Given the description of an element on the screen output the (x, y) to click on. 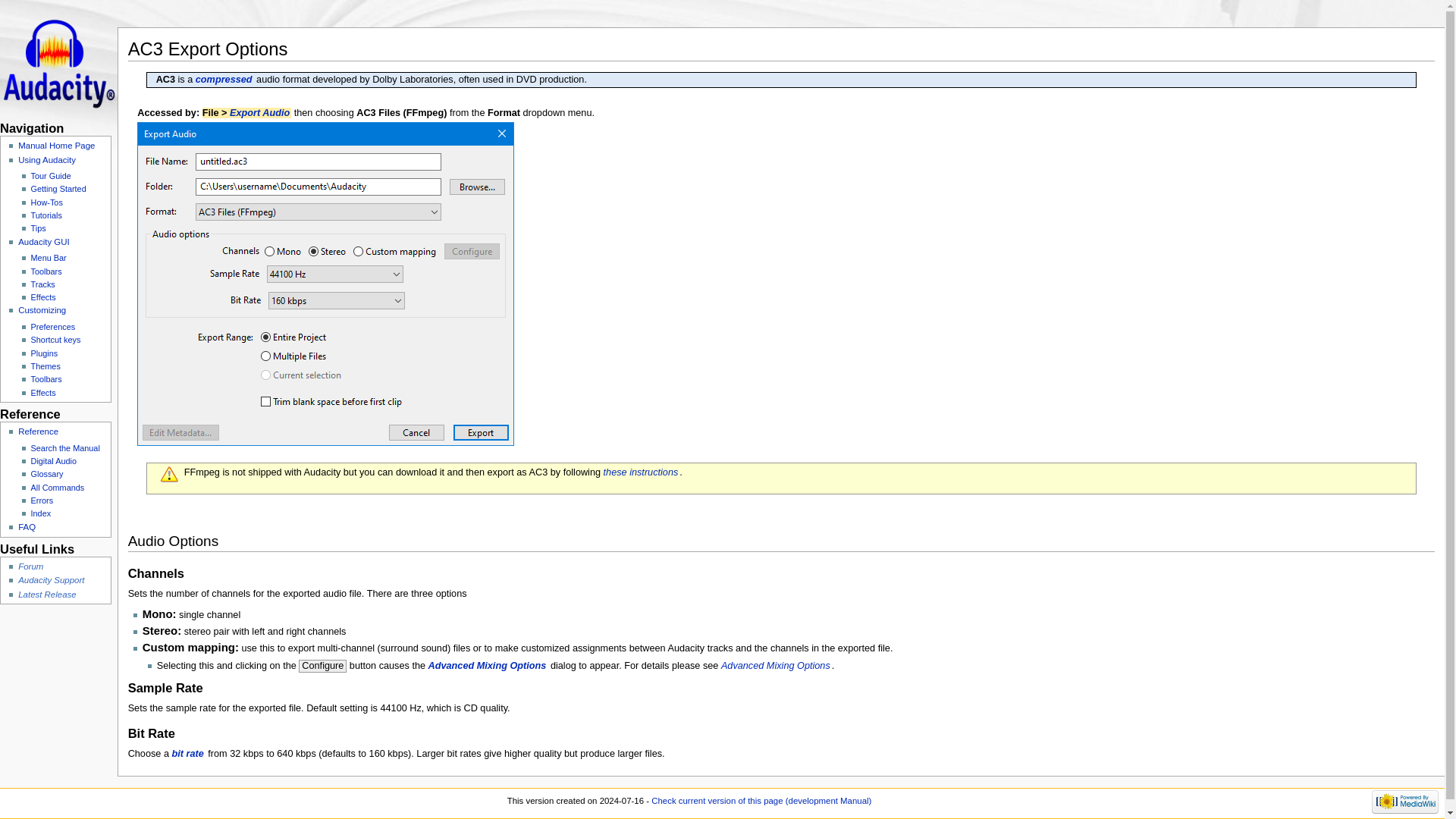
these instructions (641, 471)
Toolbars (46, 271)
Using Audacity (46, 159)
Main Page (55, 144)
Customizing (41, 309)
How to use Audacity (46, 159)
How to use Audacity (46, 202)
Shortcut keys (55, 338)
Advanced Mixing Options (488, 665)
Glossary (188, 753)
